Given the description of an element on the screen output the (x, y) to click on. 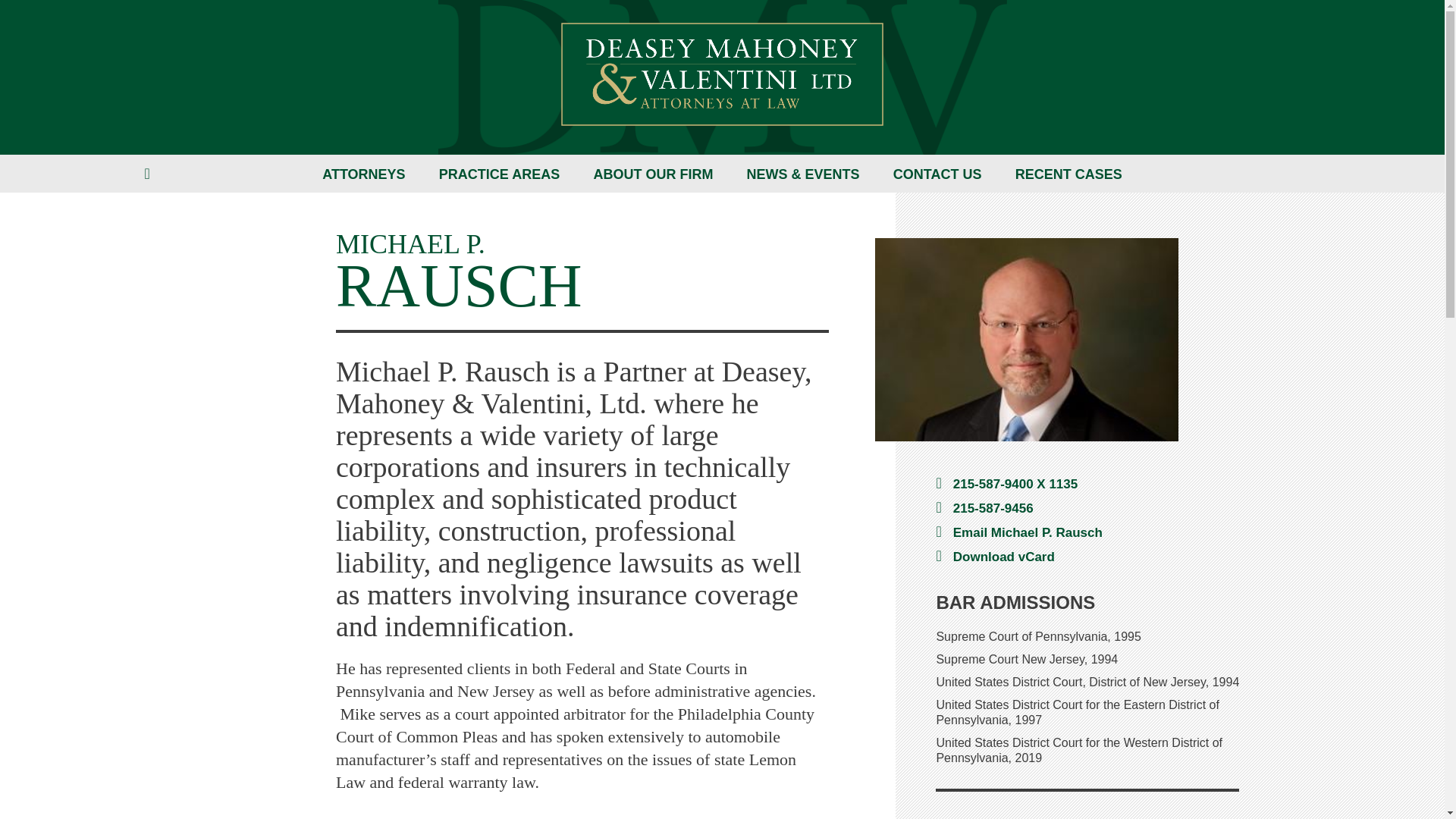
ATTORNEYS (362, 174)
PRACTICE AREAS (499, 174)
